Given the description of an element on the screen output the (x, y) to click on. 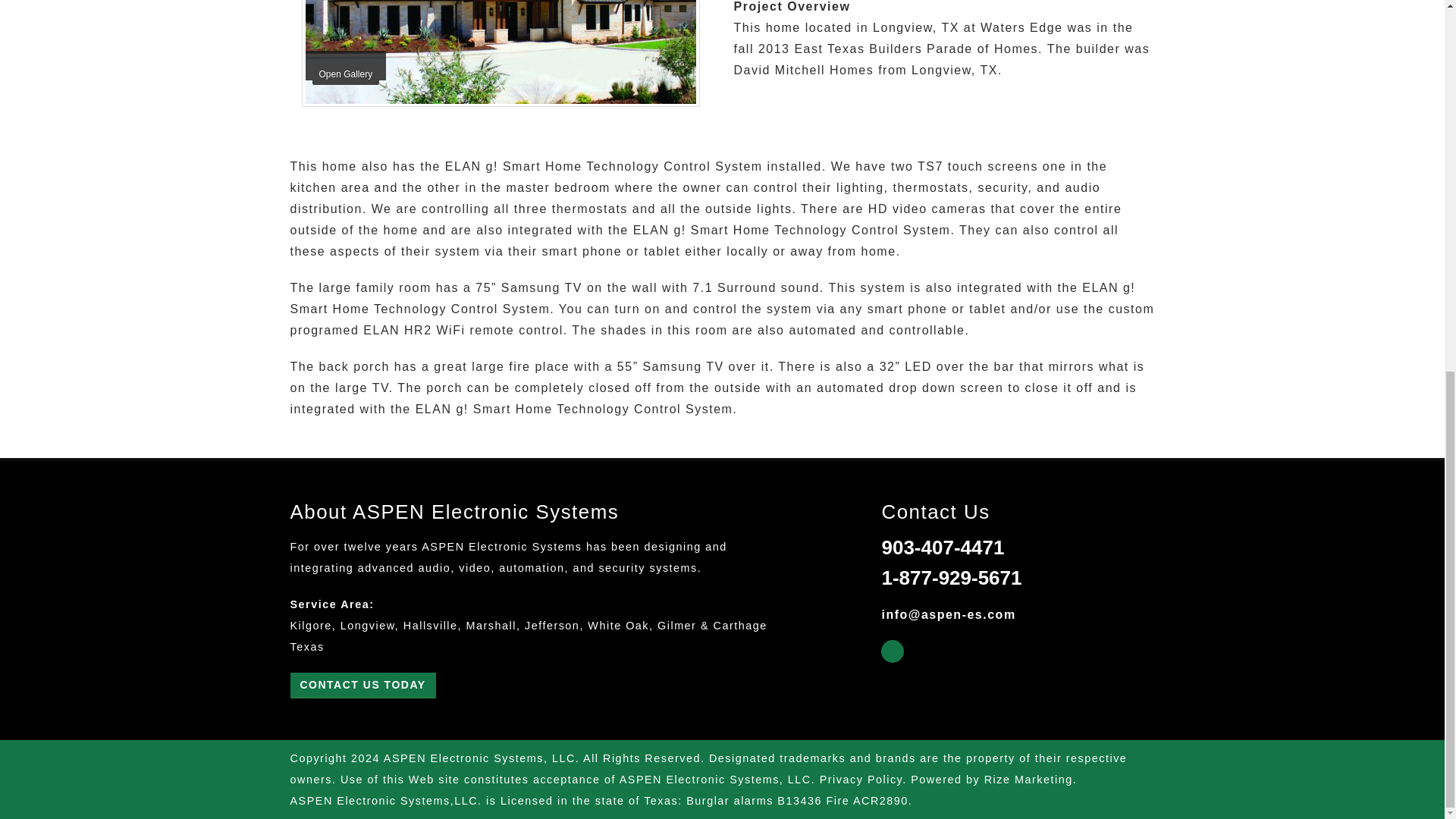
Open Gallery (500, 53)
CONTACT US TODAY (362, 685)
Privacy Policy (860, 779)
Powered by Rize Marketing (991, 779)
Rize Marketing (991, 779)
